Given the description of an element on the screen output the (x, y) to click on. 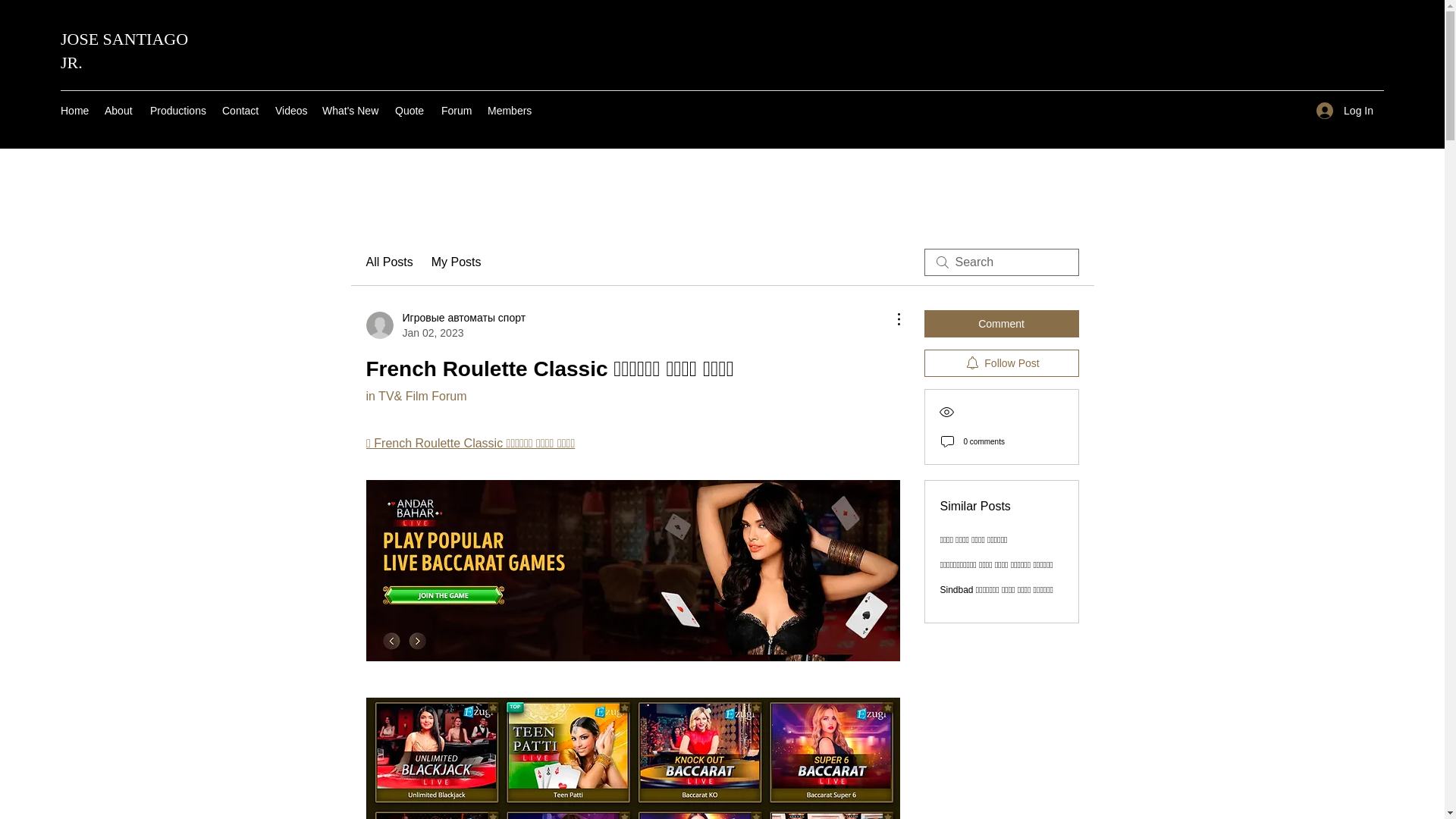
Home (74, 110)
Follow Post (1000, 362)
JOSE SANTIAGO JR. (124, 50)
My Posts (455, 262)
Forum (456, 110)
Log In (1345, 111)
Quote (410, 110)
Contact (240, 110)
Productions (178, 110)
What's New (350, 110)
